Given the description of an element on the screen output the (x, y) to click on. 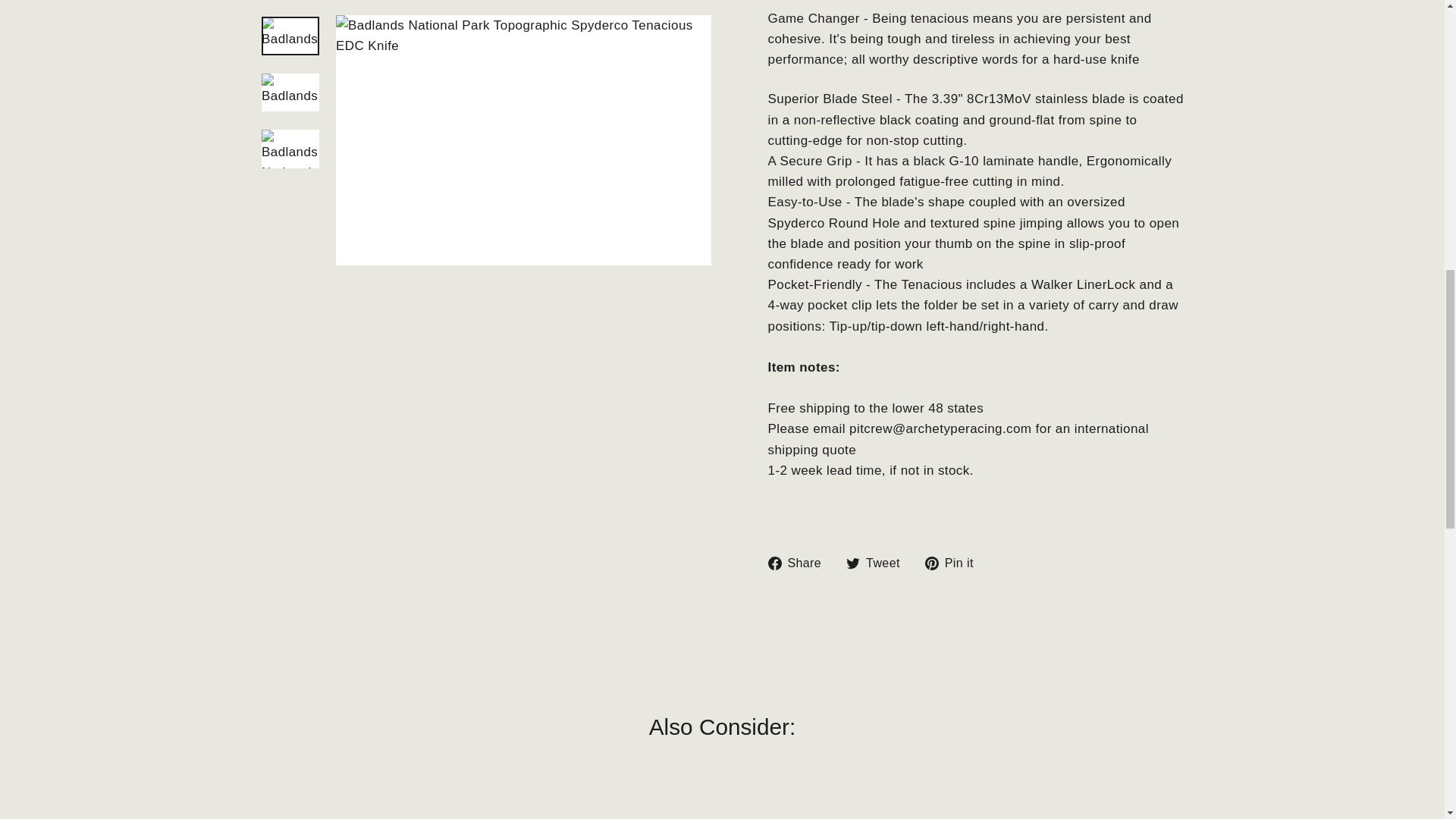
Pin on Pinterest (954, 562)
Tweet on Twitter (878, 562)
Share on Facebook (799, 562)
